Given the description of an element on the screen output the (x, y) to click on. 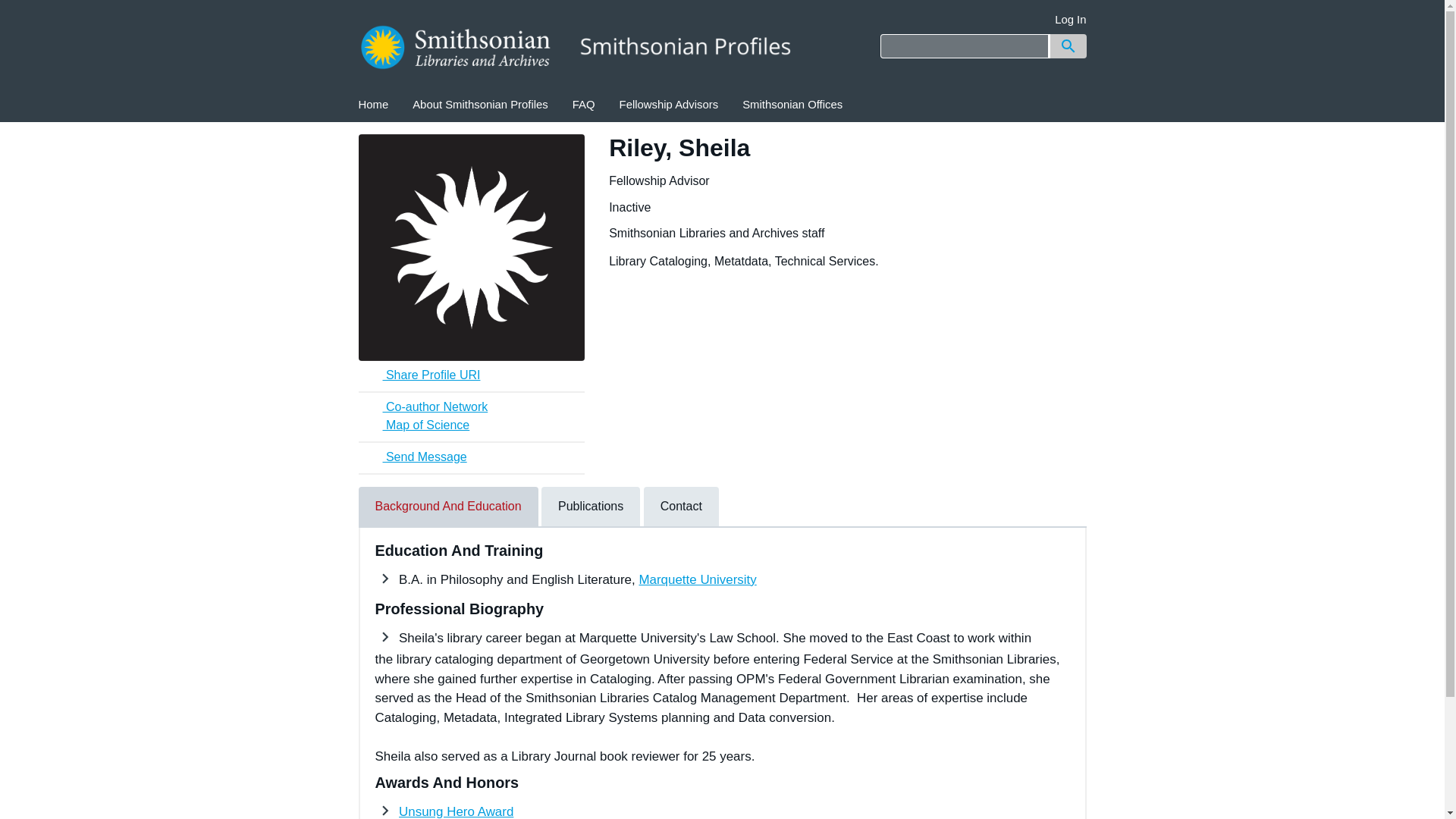
Send Message (411, 457)
Background And Education (447, 506)
Log In (1070, 20)
Co-author Network (471, 407)
Log In (1070, 20)
Map of Science (471, 425)
award name (455, 811)
no image (471, 247)
Home (373, 104)
organization name (697, 579)
Contact (681, 506)
Publications (590, 506)
Share Profile URI (471, 375)
FAQ menu item (583, 104)
Home menu item (373, 104)
